Given the description of an element on the screen output the (x, y) to click on. 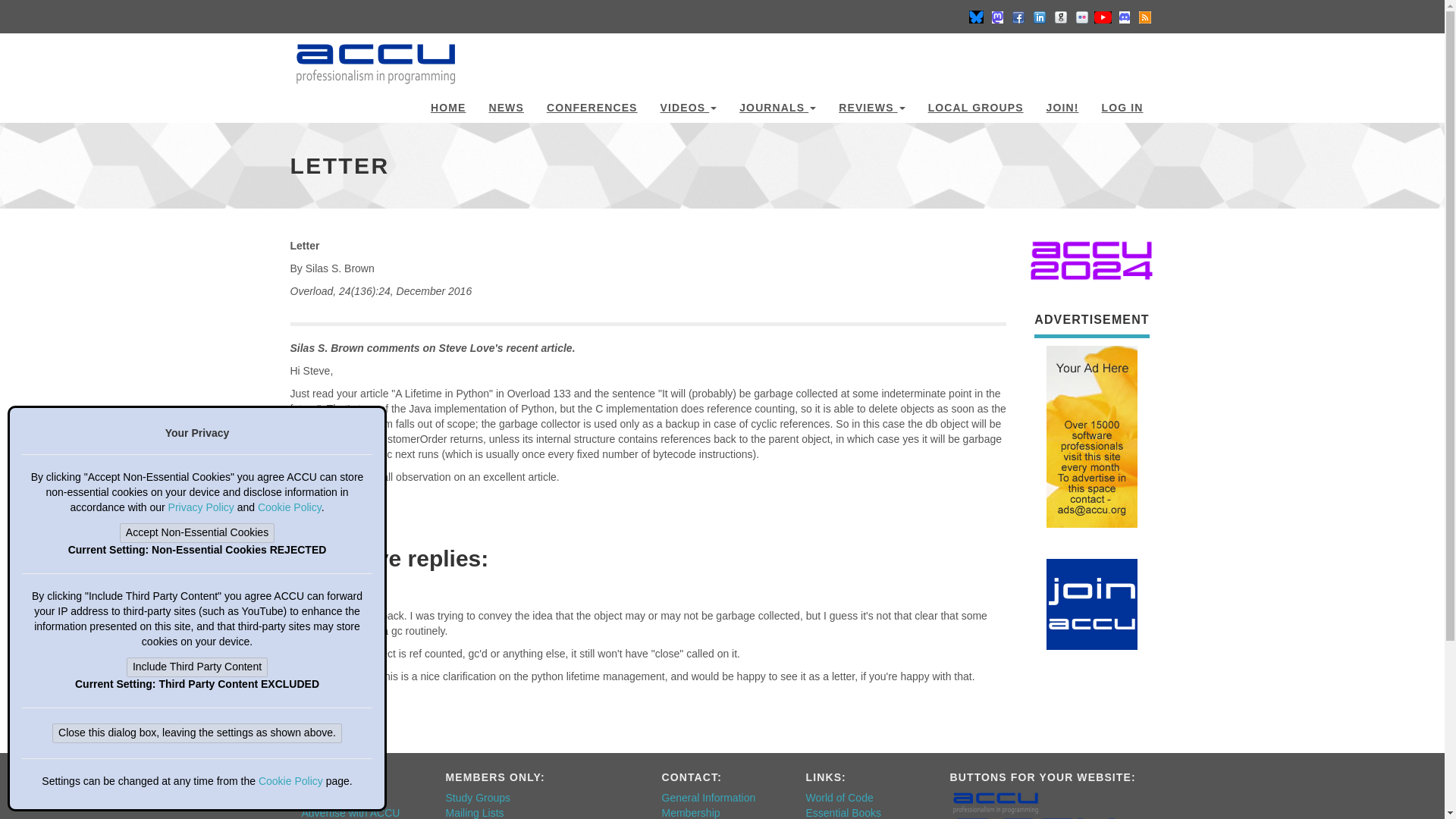
VIDEOS (689, 105)
Letter - go to homepage (375, 56)
CONFERENCES (592, 105)
NEWS (505, 105)
JOURNALS (777, 105)
REVIEWS (871, 105)
HOME (448, 105)
